Given the description of an element on the screen output the (x, y) to click on. 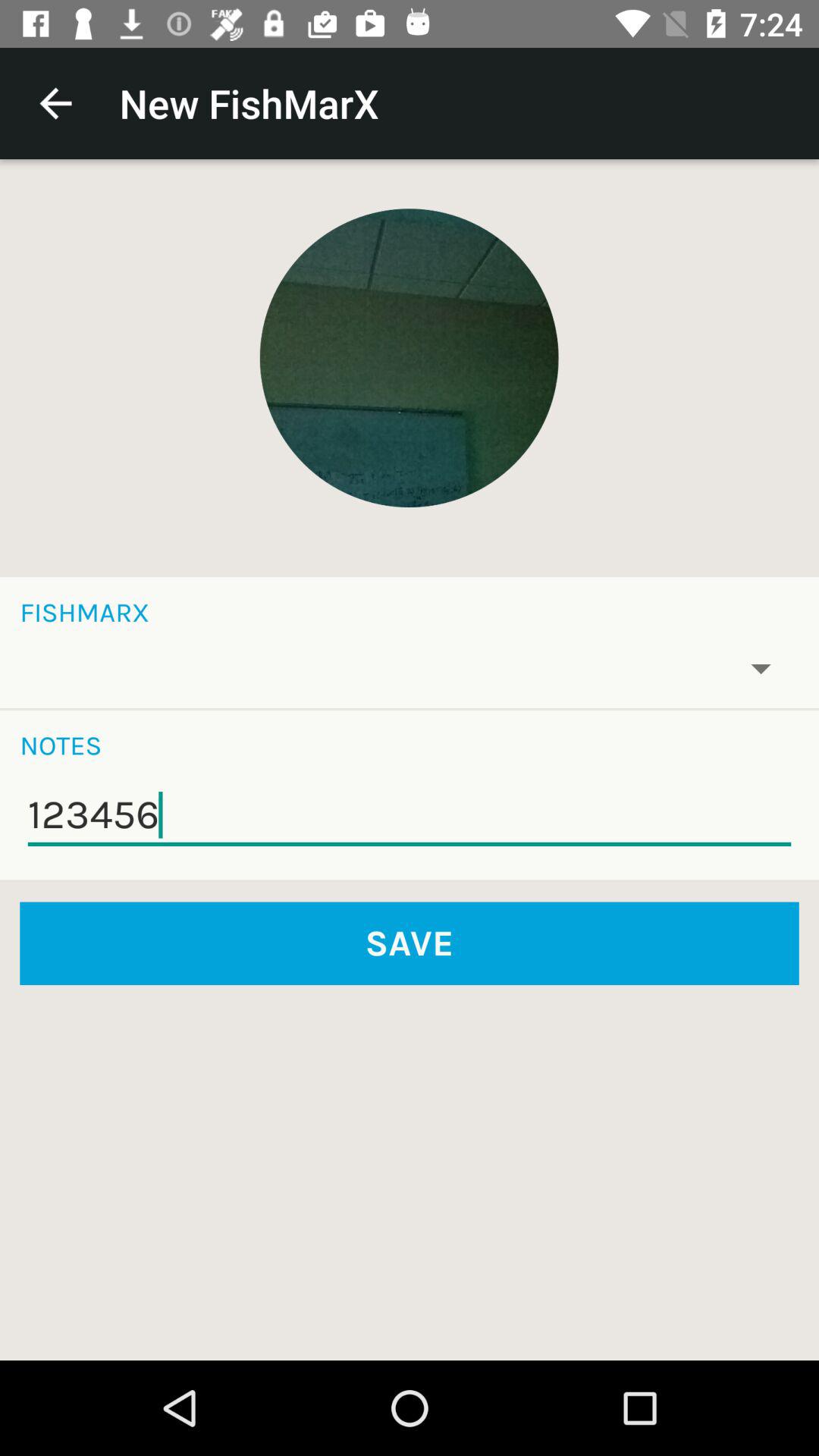
launch 123456 item (409, 815)
